Given the description of an element on the screen output the (x, y) to click on. 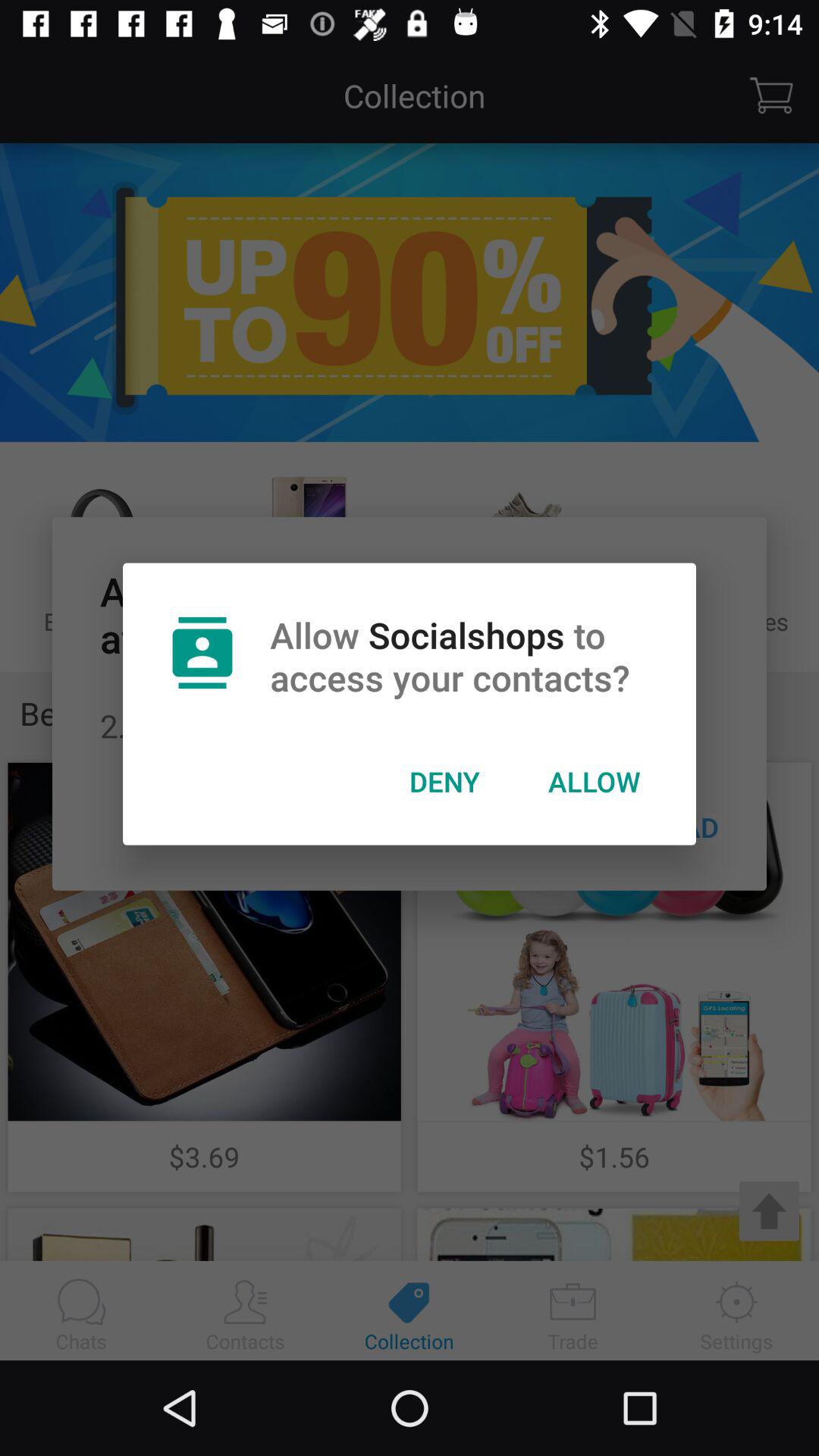
tap app below the allow socialshops to item (444, 781)
